Given the description of an element on the screen output the (x, y) to click on. 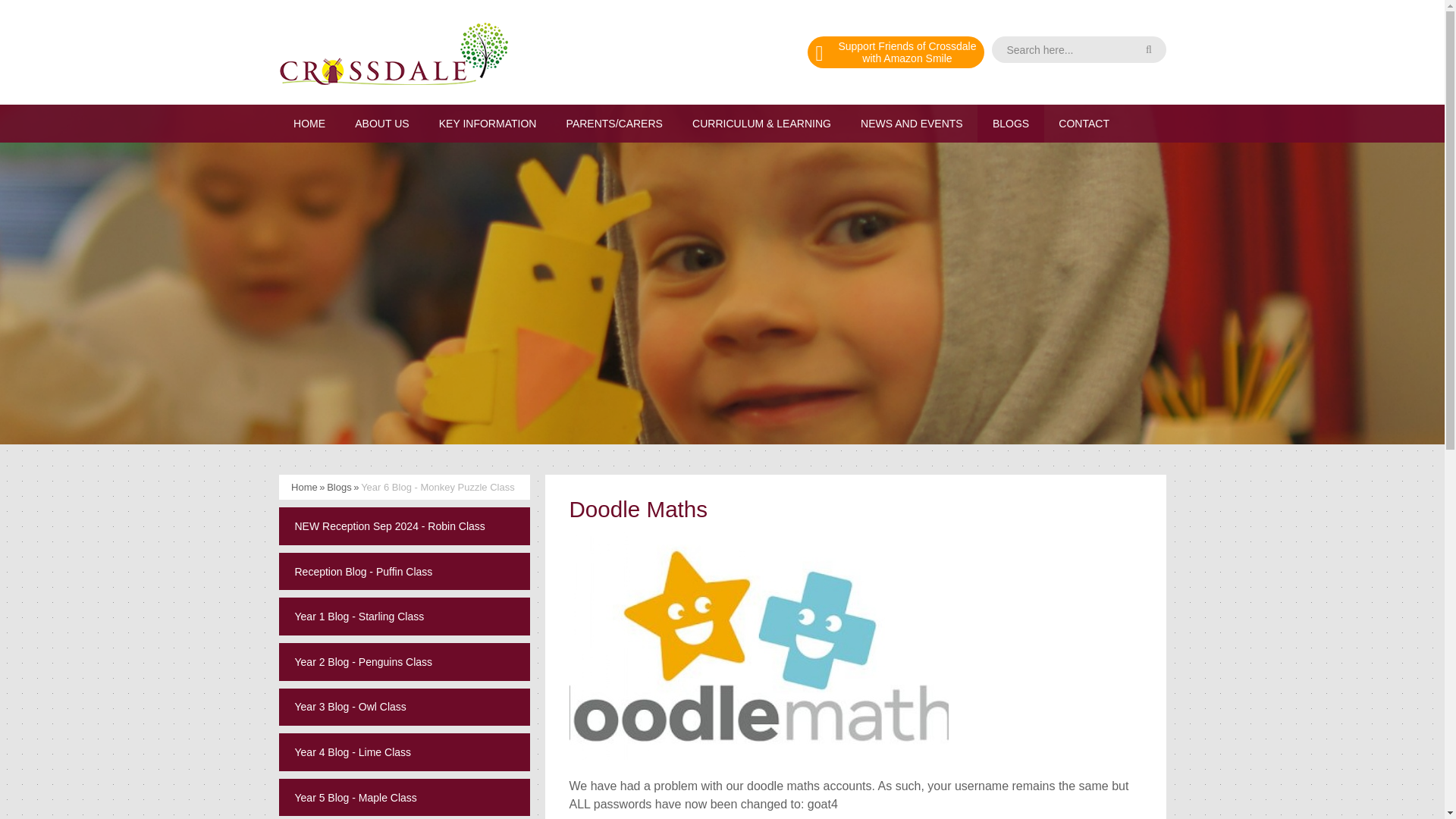
ABOUT US (382, 123)
Search here... (1078, 49)
search... (896, 51)
KEY INFORMATION (1078, 49)
HOME (487, 123)
